Given the description of an element on the screen output the (x, y) to click on. 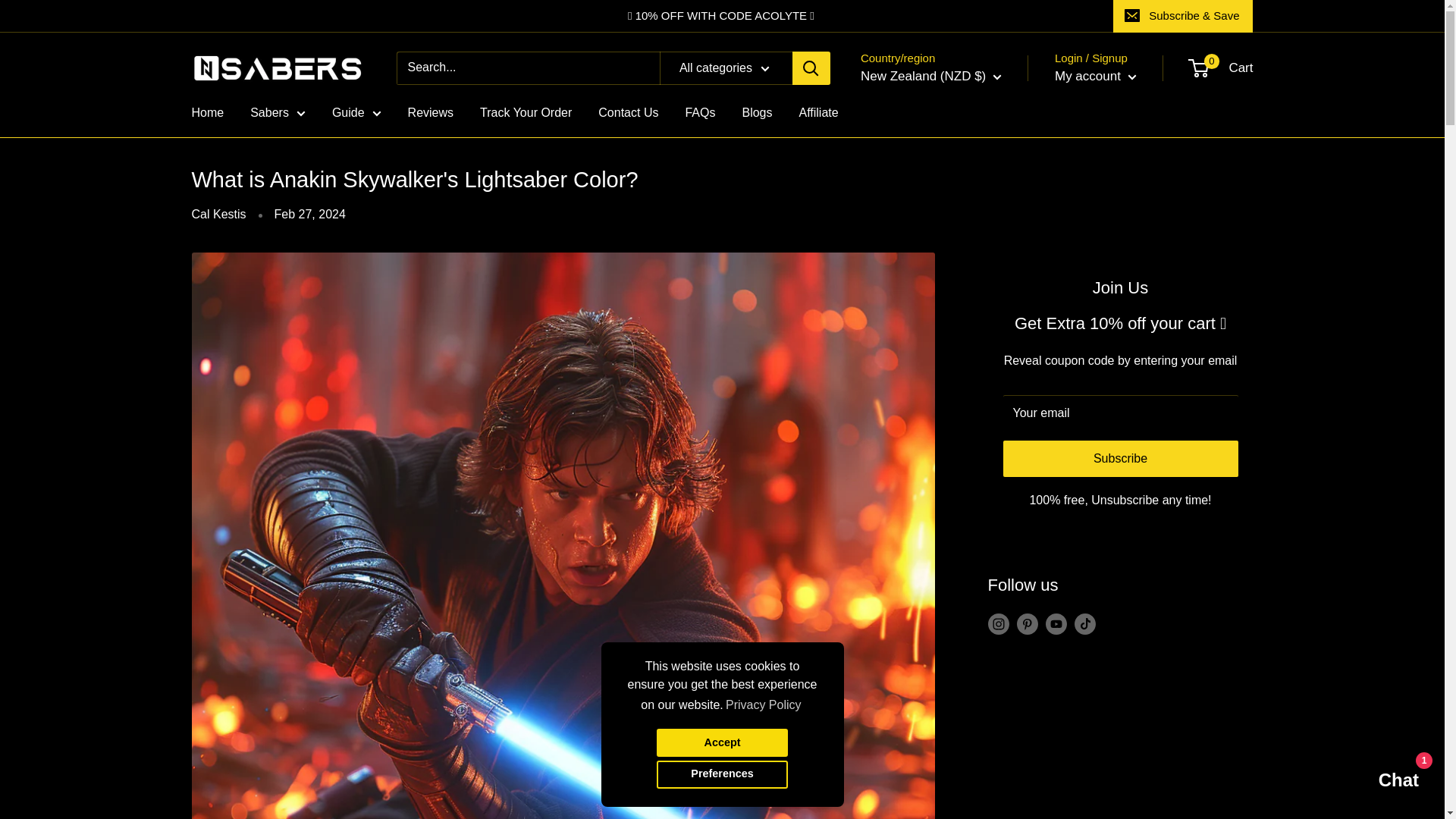
Shopify online store chat (1383, 781)
